Given the description of an element on the screen output the (x, y) to click on. 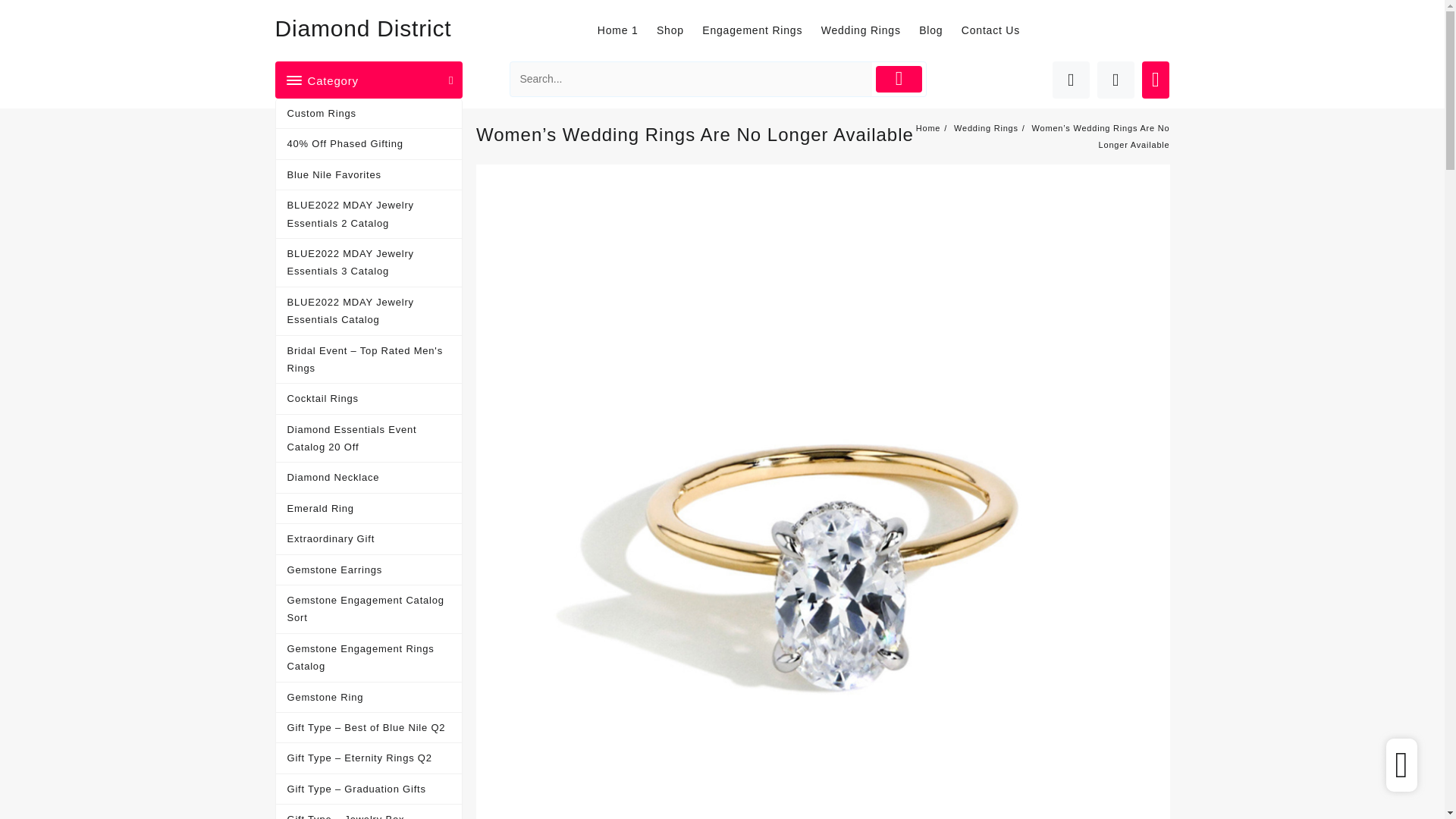
Extraordinary Gift (369, 539)
Contact Us (997, 30)
Gemstone Engagement Rings Catalog (369, 657)
Diamond Necklace (369, 477)
Emerald Ring (369, 508)
BLUE2022 MDAY Jewelry Essentials Catalog (369, 311)
Blue Nile Favorites (369, 174)
BLUE2022 MDAY Jewelry Essentials 2 Catalog (369, 214)
Wedding Rings (868, 30)
Diamond Essentials Event Catalog 20 Off (369, 438)
Gemstone Engagement Catalog Sort (369, 609)
Gemstone Earrings (369, 570)
BLUE2022 MDAY Jewelry Essentials 3 Catalog (369, 263)
Custom Rings (369, 113)
Shop (677, 30)
